Given the description of an element on the screen output the (x, y) to click on. 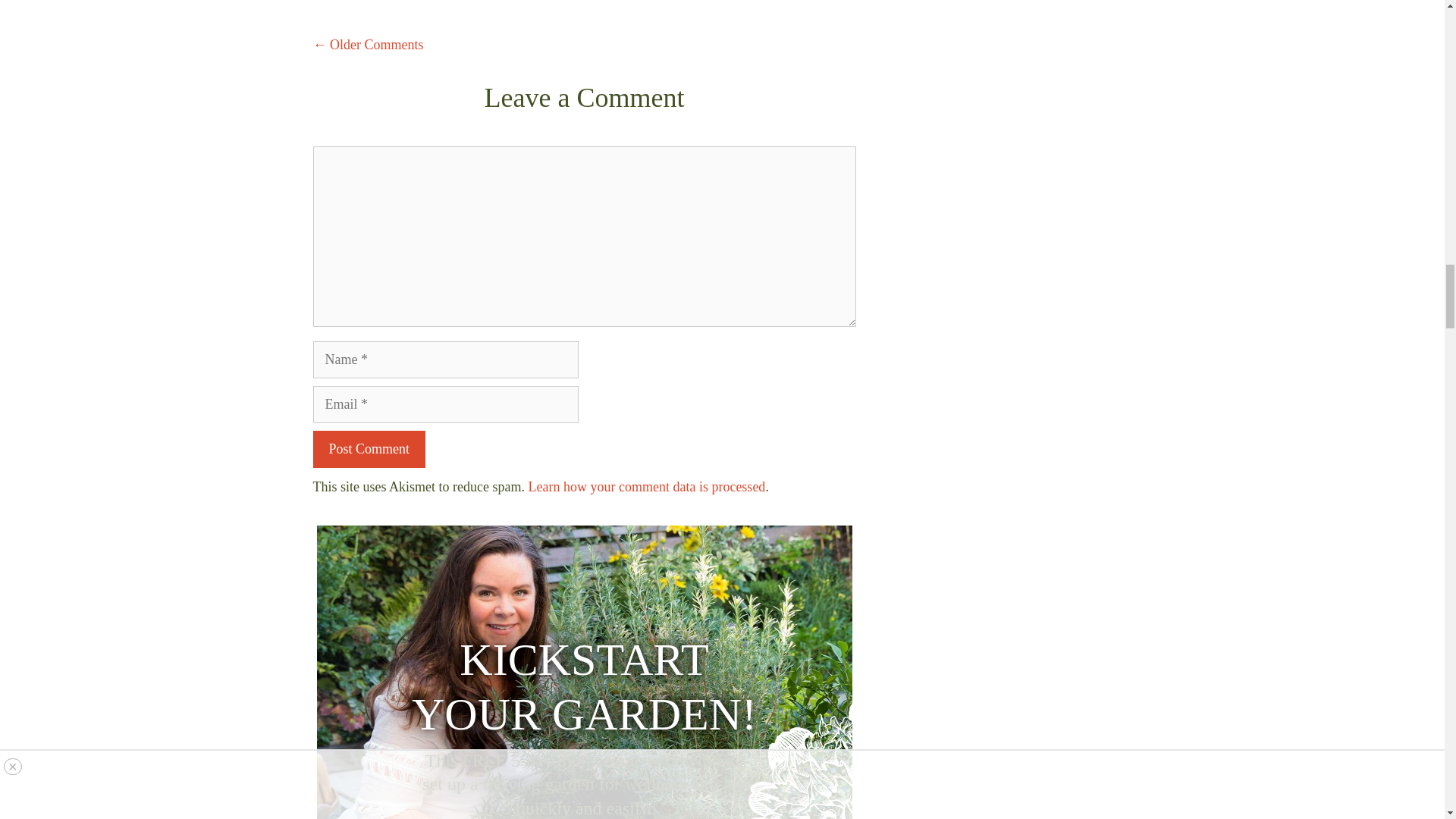
Post Comment (369, 448)
